Given the description of an element on the screen output the (x, y) to click on. 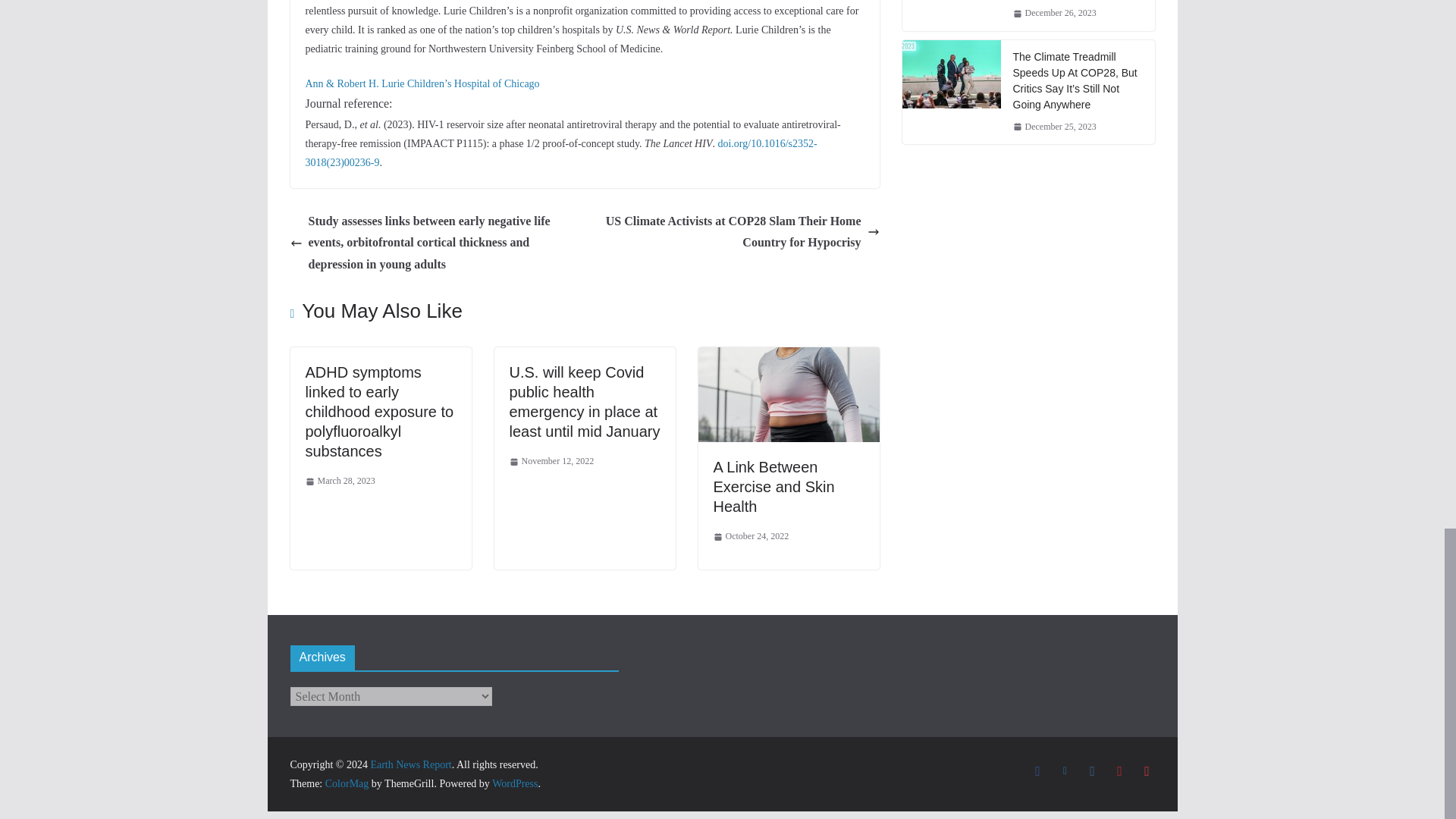
A Link Between Exercise and Skin Health (788, 357)
March 28, 2023 (339, 481)
3:42 pm (339, 481)
November 12, 2022 (551, 461)
10:42 am (551, 461)
A Link Between Exercise and Skin Health (773, 486)
